Given the description of an element on the screen output the (x, y) to click on. 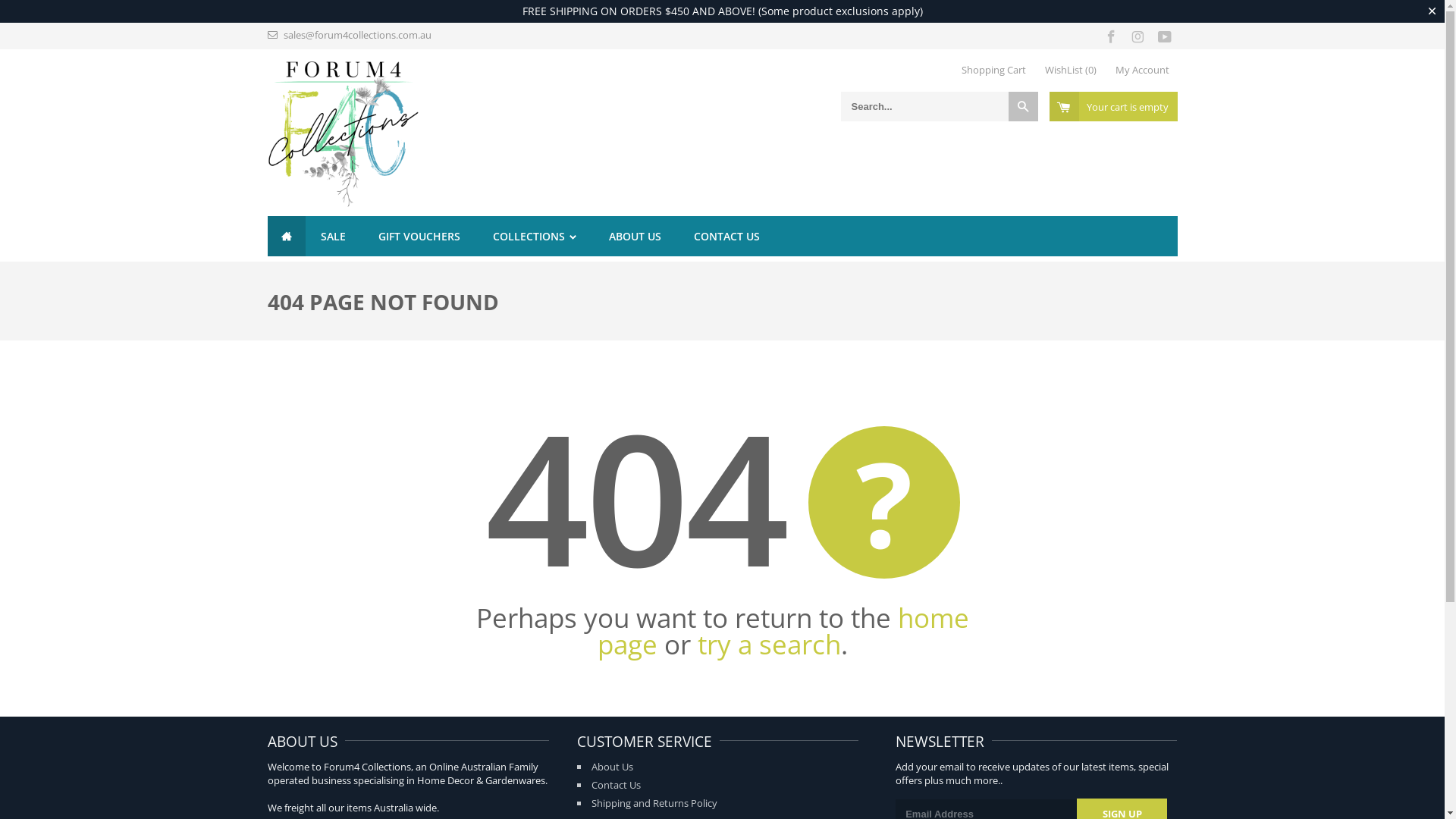
Forum4 Collections on Facebook Element type: hover (1111, 34)
home page Element type: text (783, 630)
WishList (0) Element type: text (1070, 69)
Your cart is empty Element type: text (1113, 106)
Contact Us Element type: text (615, 784)
Shipping and Returns Policy Element type: text (654, 802)
Shopping Cart Element type: text (993, 69)
COLLECTIONS Element type: text (534, 236)
ABOUT US Element type: text (634, 236)
Forum4 Collections on YouTube Element type: hover (1164, 34)
sales@forum4collections.com.au Element type: text (357, 34)
try a search Element type: text (768, 644)
Forum4 Collections on Instagram Element type: hover (1136, 34)
CONTACT US Element type: text (726, 236)
SALE Element type: text (332, 236)
About Us Element type: text (612, 766)
GIFT VOUCHERS Element type: text (418, 236)
My Account Element type: text (1141, 69)
